Given the description of an element on the screen output the (x, y) to click on. 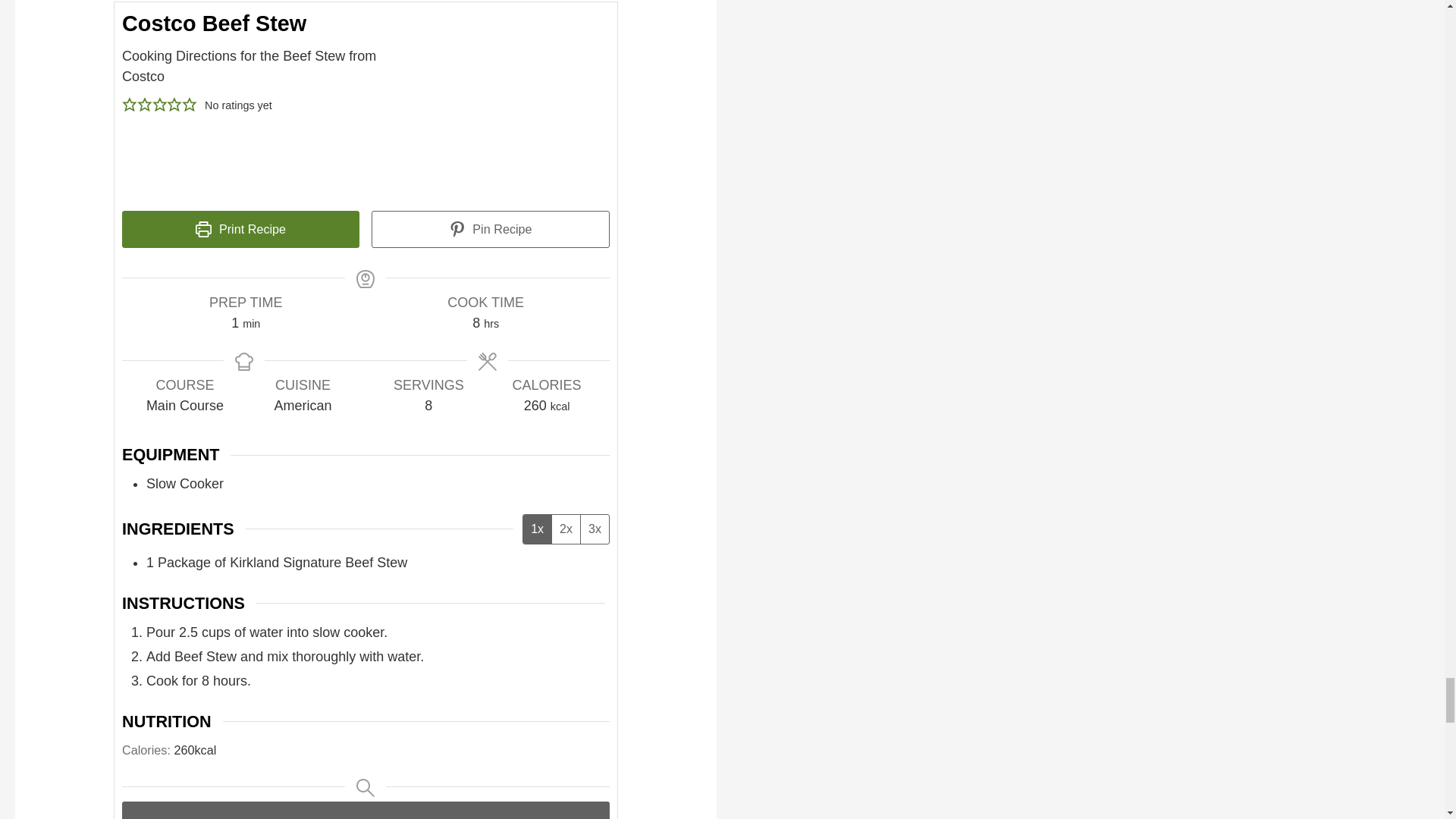
3x (593, 529)
2x (565, 529)
Print Recipe (240, 229)
1x (536, 529)
Pin Recipe (489, 229)
